Given the description of an element on the screen output the (x, y) to click on. 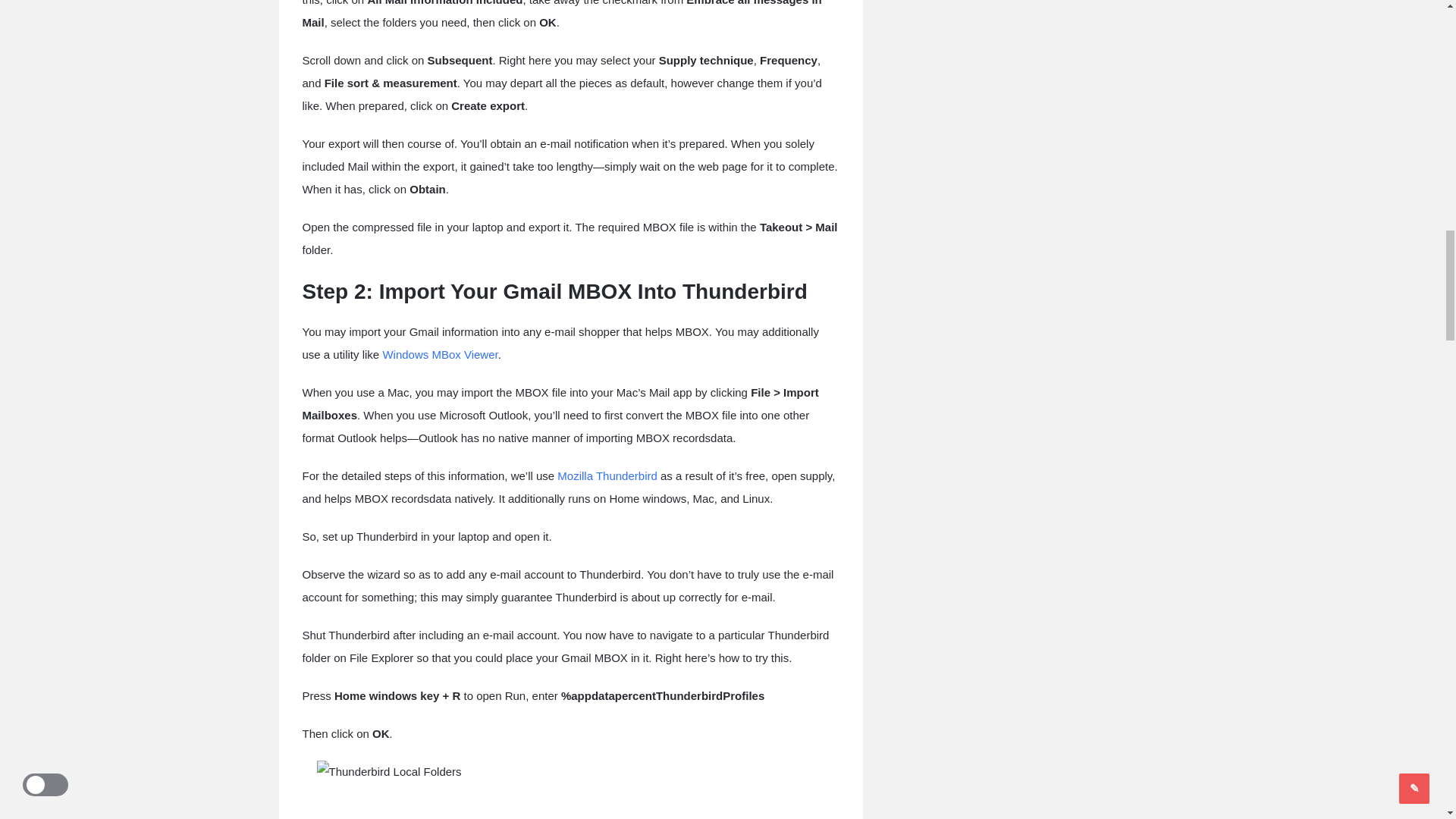
Windows MBox Viewer (439, 354)
